Given the description of an element on the screen output the (x, y) to click on. 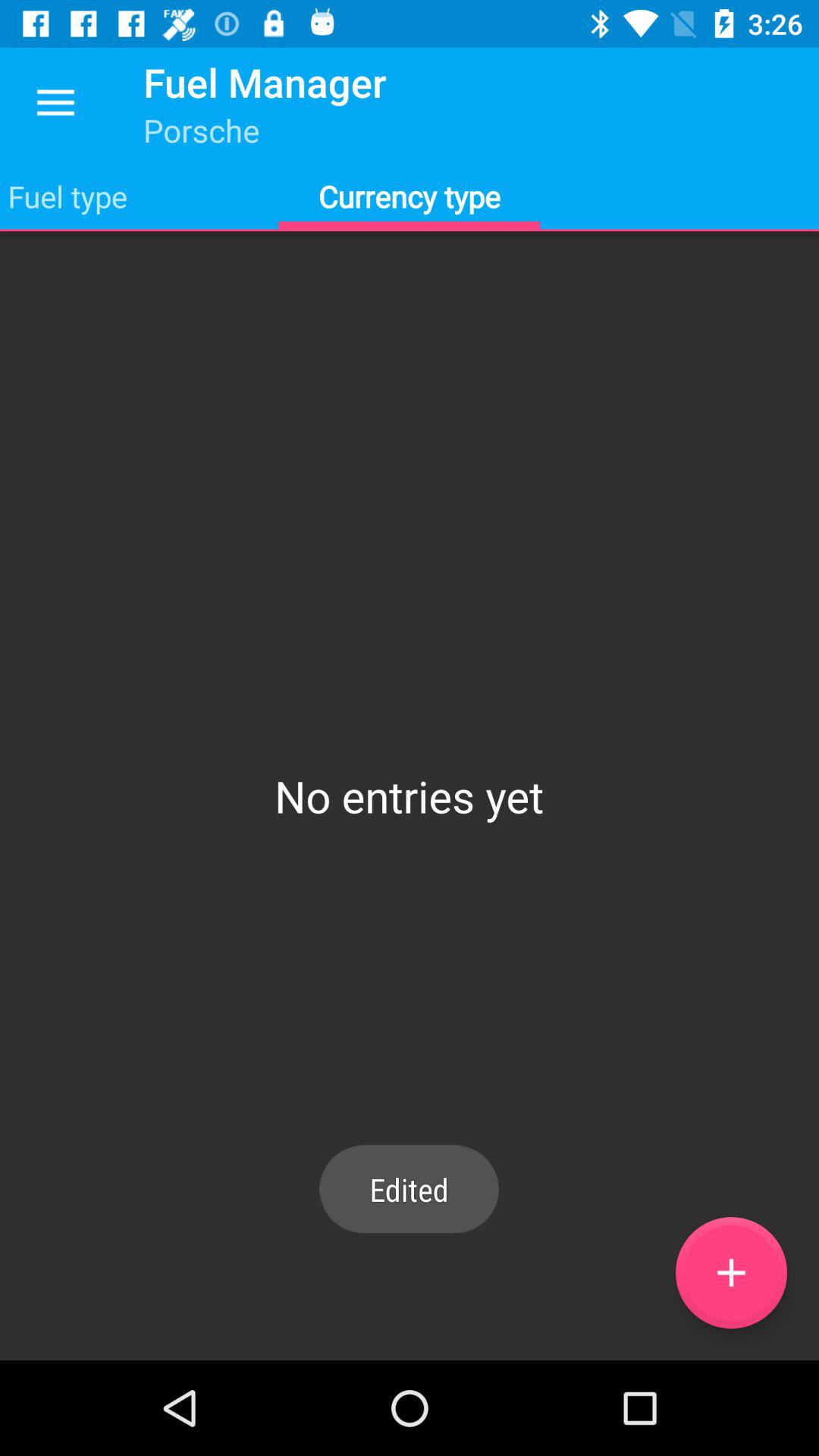
add an entry (731, 1272)
